Given the description of an element on the screen output the (x, y) to click on. 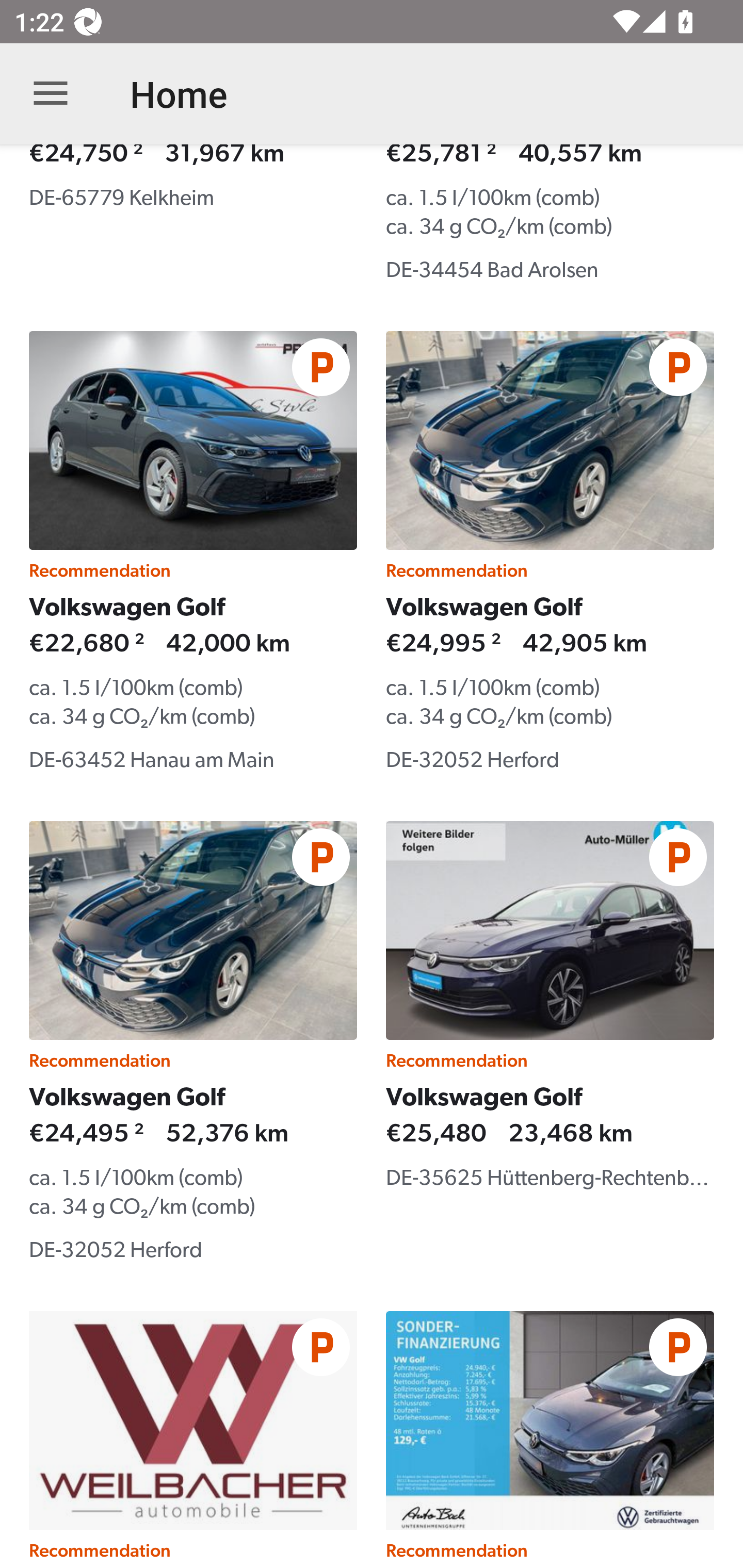
Open navigation bar (50, 93)
Recommendation (192, 1439)
Recommendation (549, 1439)
